Given the description of an element on the screen output the (x, y) to click on. 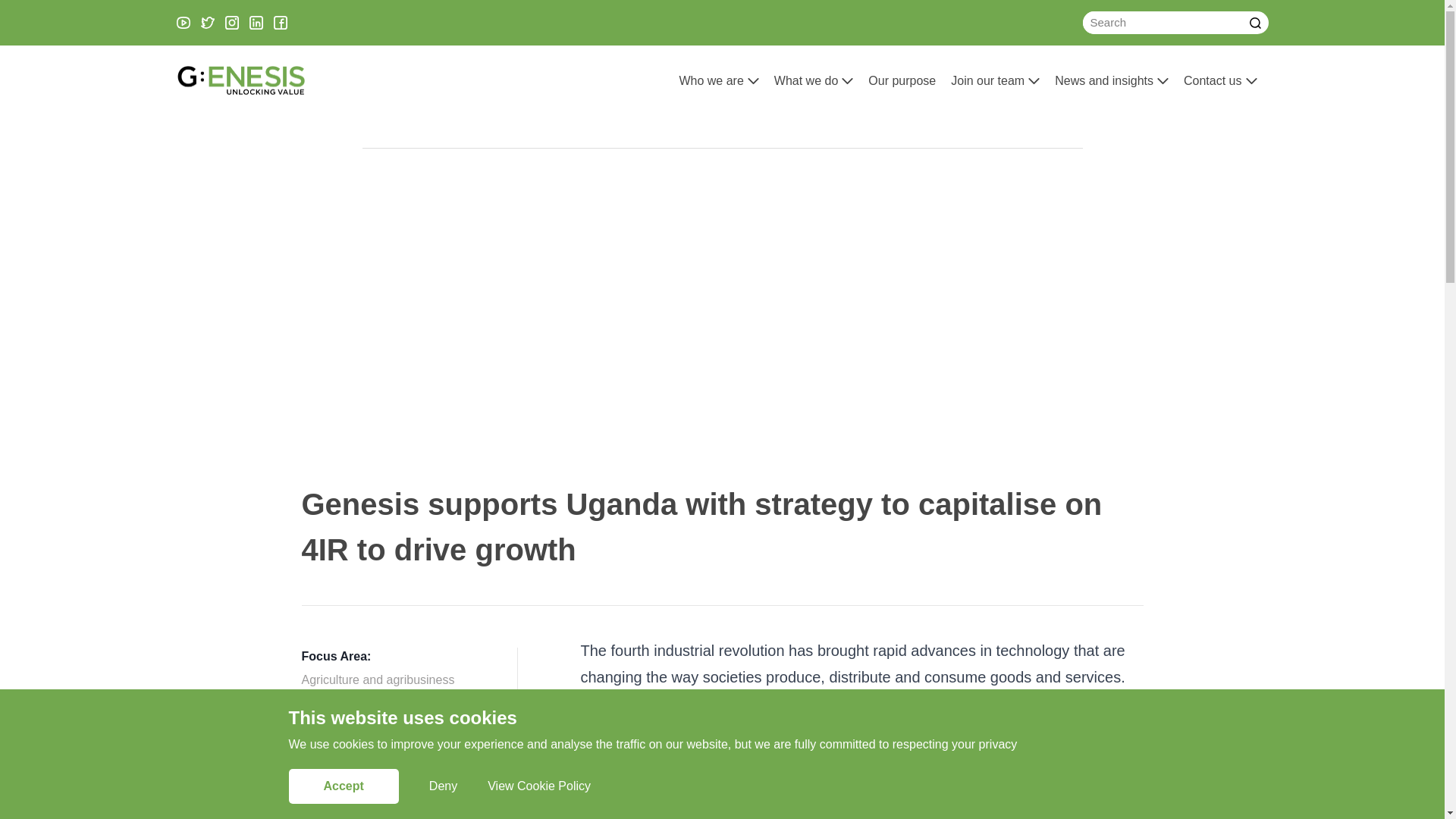
What we do (806, 81)
Who we are (710, 81)
